Given the description of an element on the screen output the (x, y) to click on. 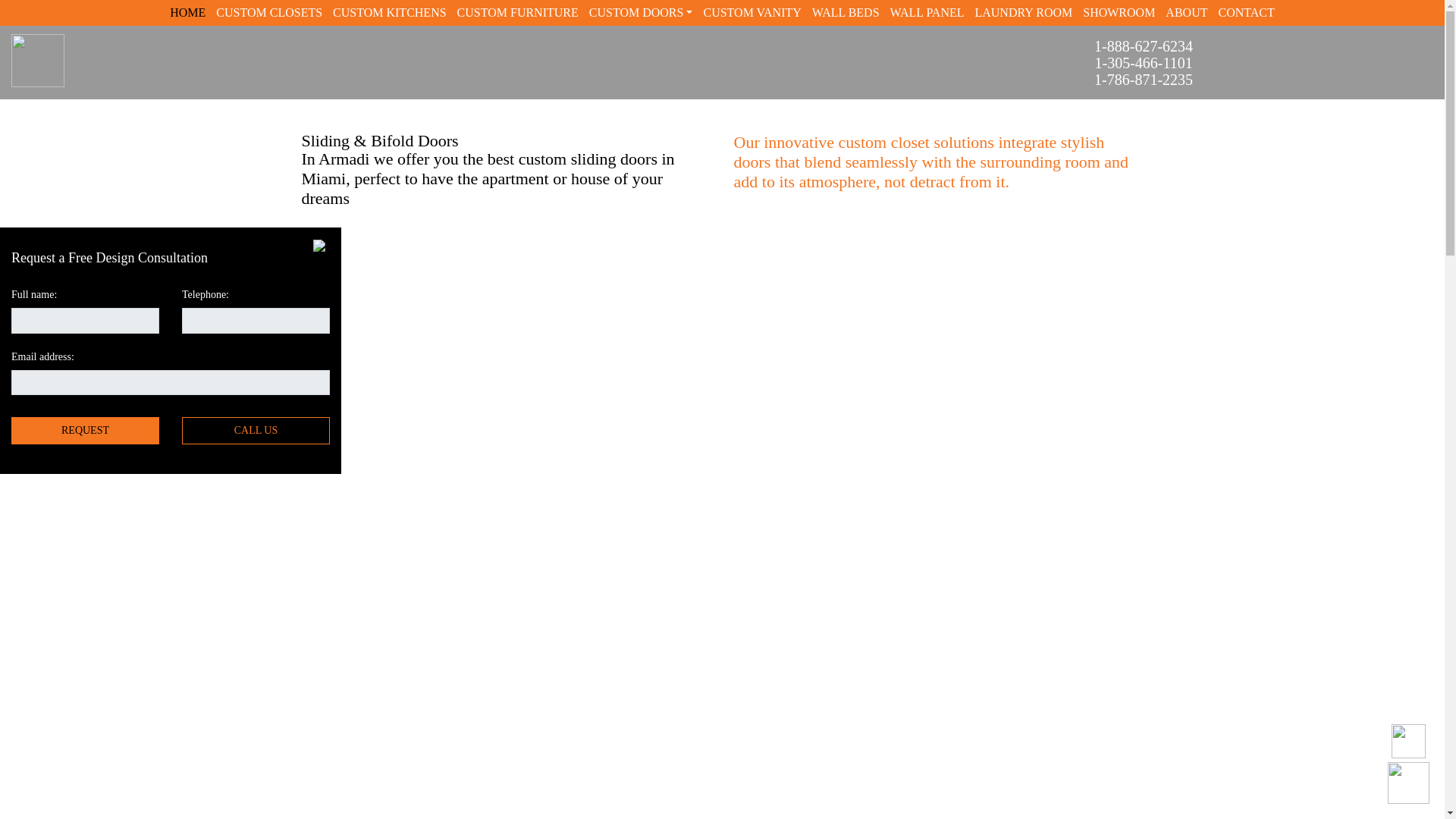
WALL PANEL (927, 12)
LAUNDRY ROOM (1023, 12)
CUSTOM FURNITURE (517, 12)
HOME (187, 12)
CUSTOM KITCHENS (389, 12)
ABOUT (1186, 12)
SHOWROOM (1118, 12)
REQUEST (84, 430)
CUSTOM DOORS (640, 12)
CONTACT (1245, 12)
